Given the description of an element on the screen output the (x, y) to click on. 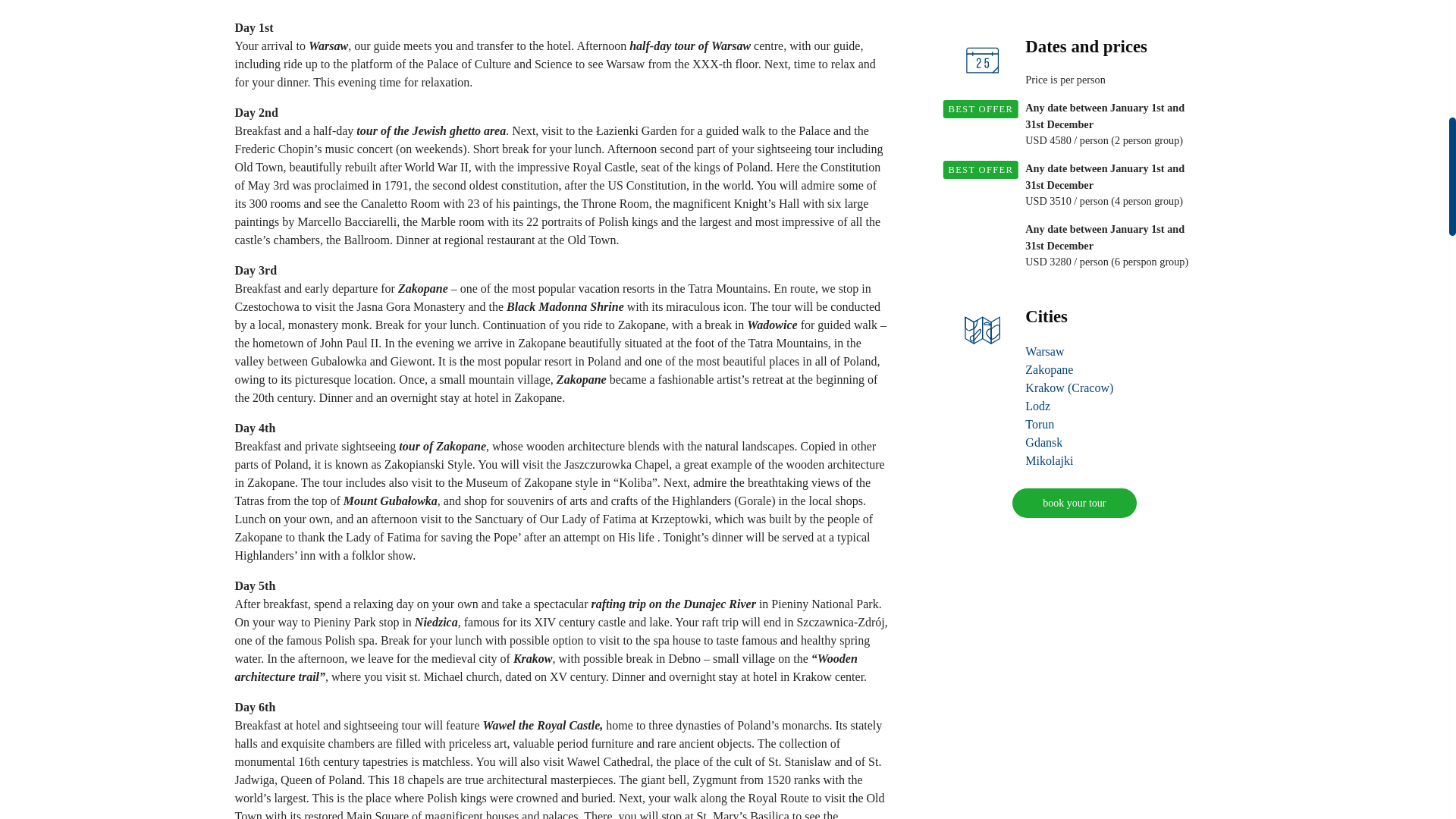
Torun (1039, 406)
Gdansk (1043, 424)
Lodz (1037, 388)
Warsaw (1044, 333)
Mikolajki (1049, 442)
book your tour (1073, 485)
Zakopane (1049, 351)
